Given the description of an element on the screen output the (x, y) to click on. 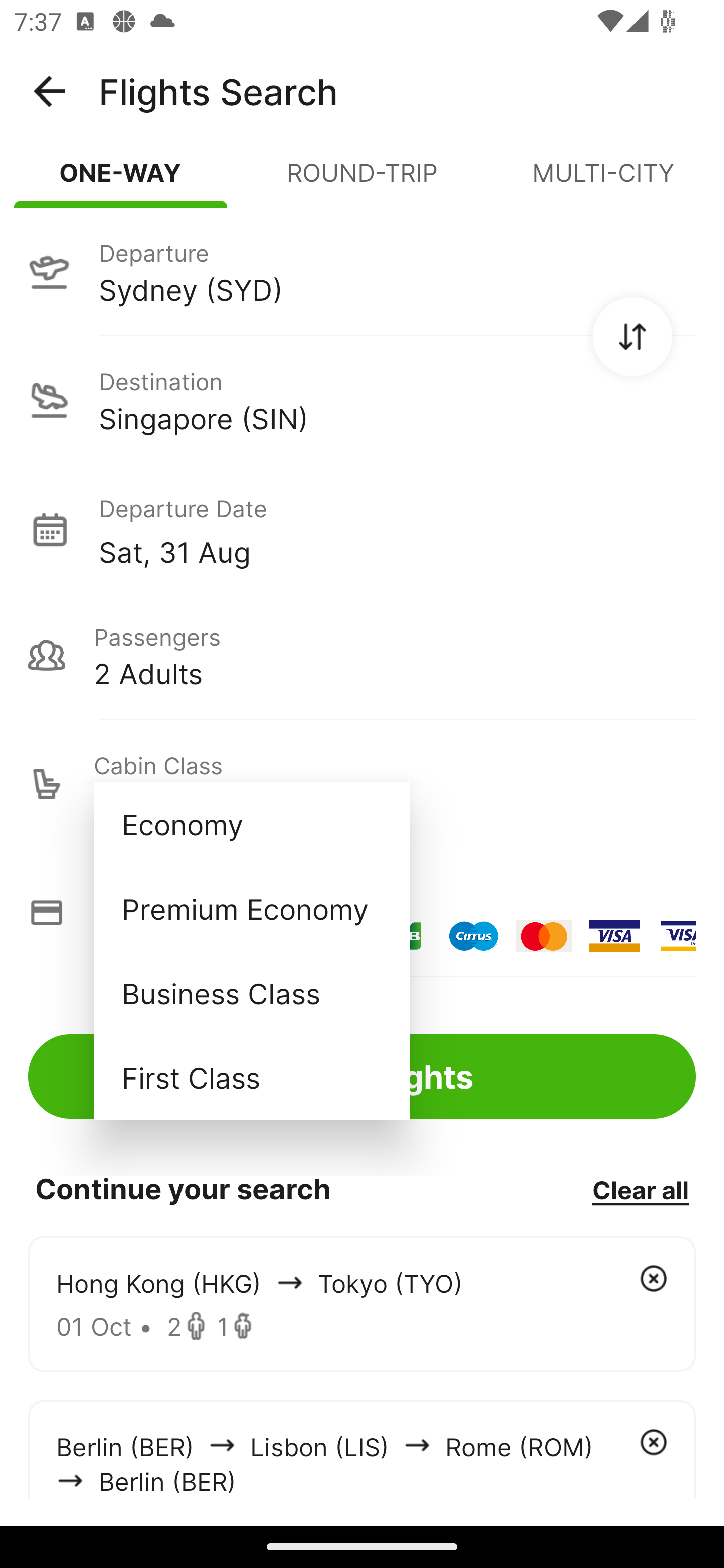
Economy (251, 824)
Premium Economy (251, 908)
Business Class (251, 992)
First Class (251, 1076)
